Given the description of an element on the screen output the (x, y) to click on. 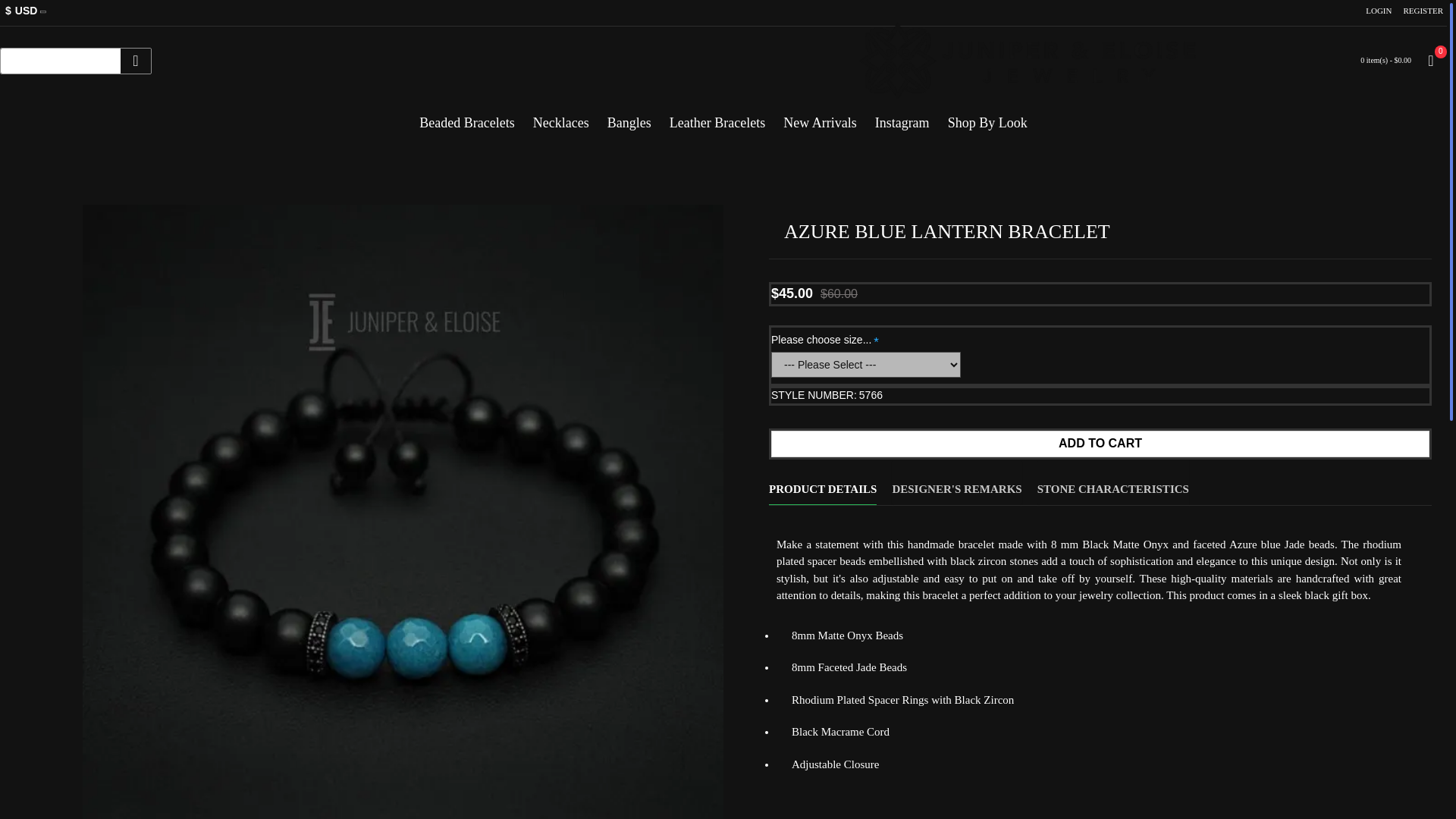
Shop By Look (987, 117)
PRODUCT DETAILS (822, 481)
Bangles (629, 117)
Beaded Bracelets (466, 117)
STONE CHARACTERISTICS (1112, 481)
New Arrivals (819, 117)
Instagram (902, 117)
LOGIN (1377, 11)
ADD TO CART (1100, 443)
